Given the description of an element on the screen output the (x, y) to click on. 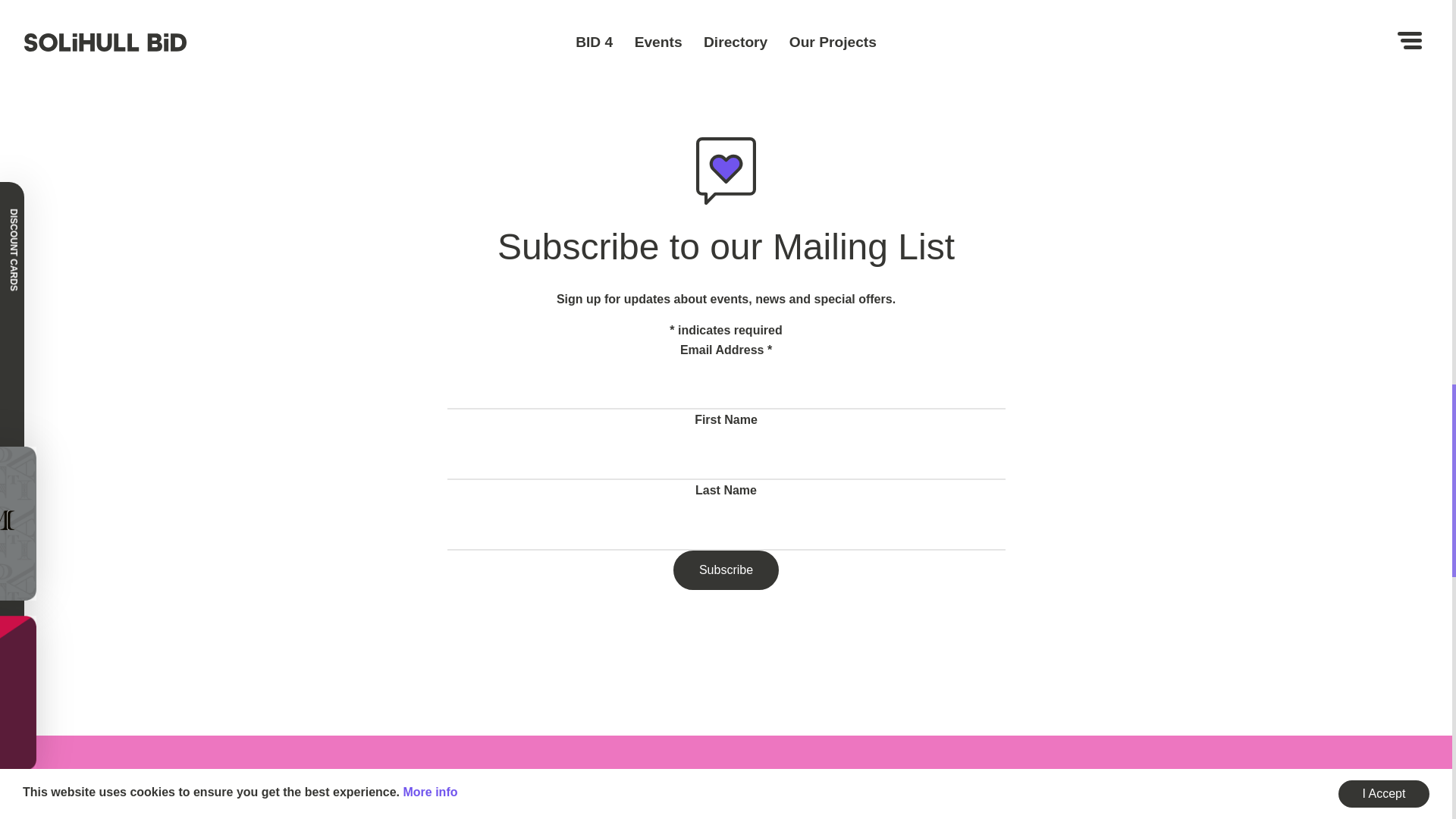
Subscribe (725, 569)
Subscribe (725, 569)
